Given the description of an element on the screen output the (x, y) to click on. 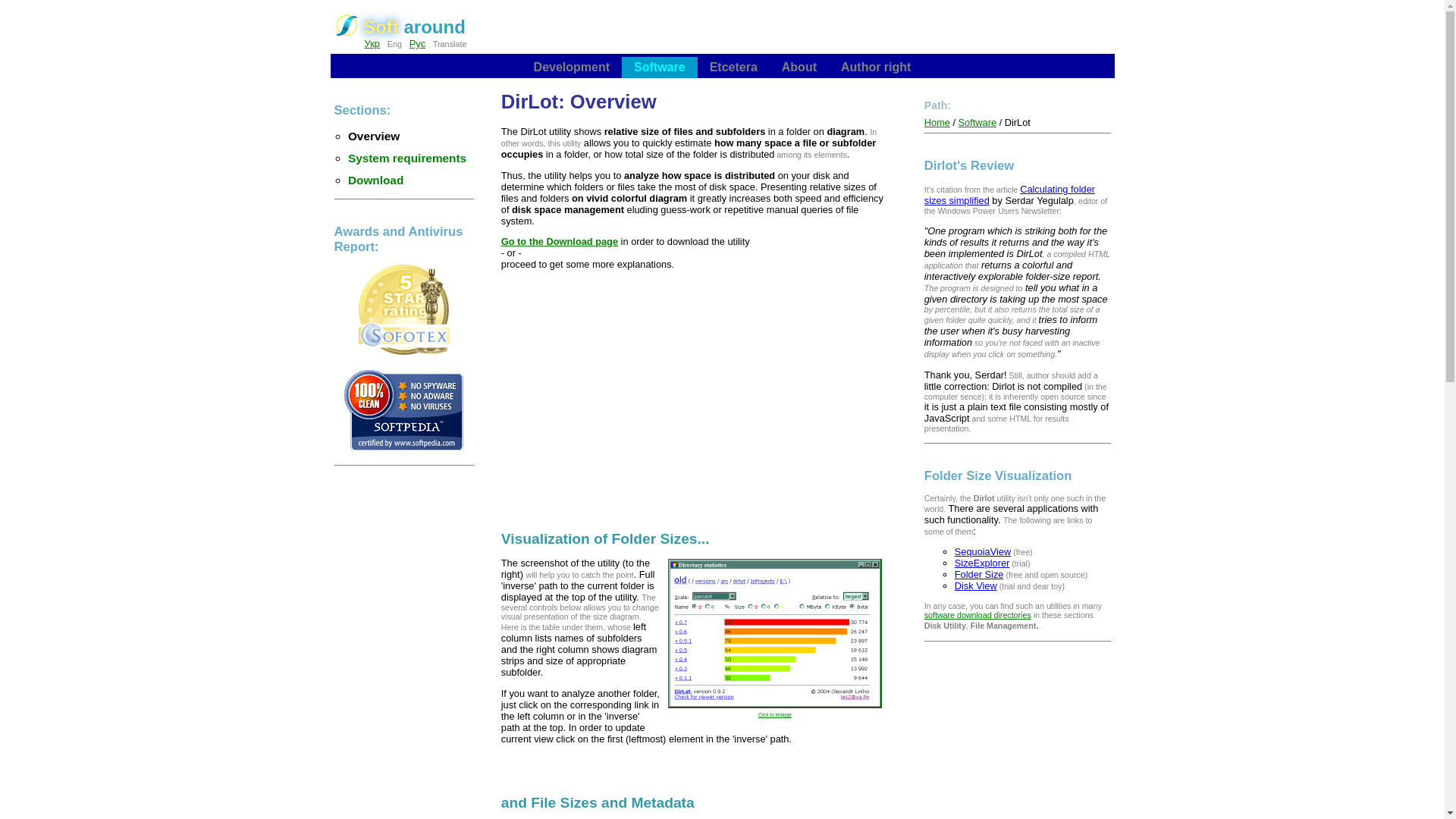
software download directories (977, 614)
Click to enlarge (775, 709)
Download (375, 179)
SizeExplorer (982, 562)
Dirlot utility on Softpedia (403, 451)
Home (937, 122)
Disk View (976, 585)
SequoiaView (982, 551)
Folder Size (979, 573)
Software (977, 122)
Calculating folder sizes simplified (1009, 194)
Freeware and shareware downloads (403, 351)
Advertisement (694, 395)
DirLot shows columnar diagram of folder sizes (775, 633)
Go to the Download page (558, 241)
